Given the description of an element on the screen output the (x, y) to click on. 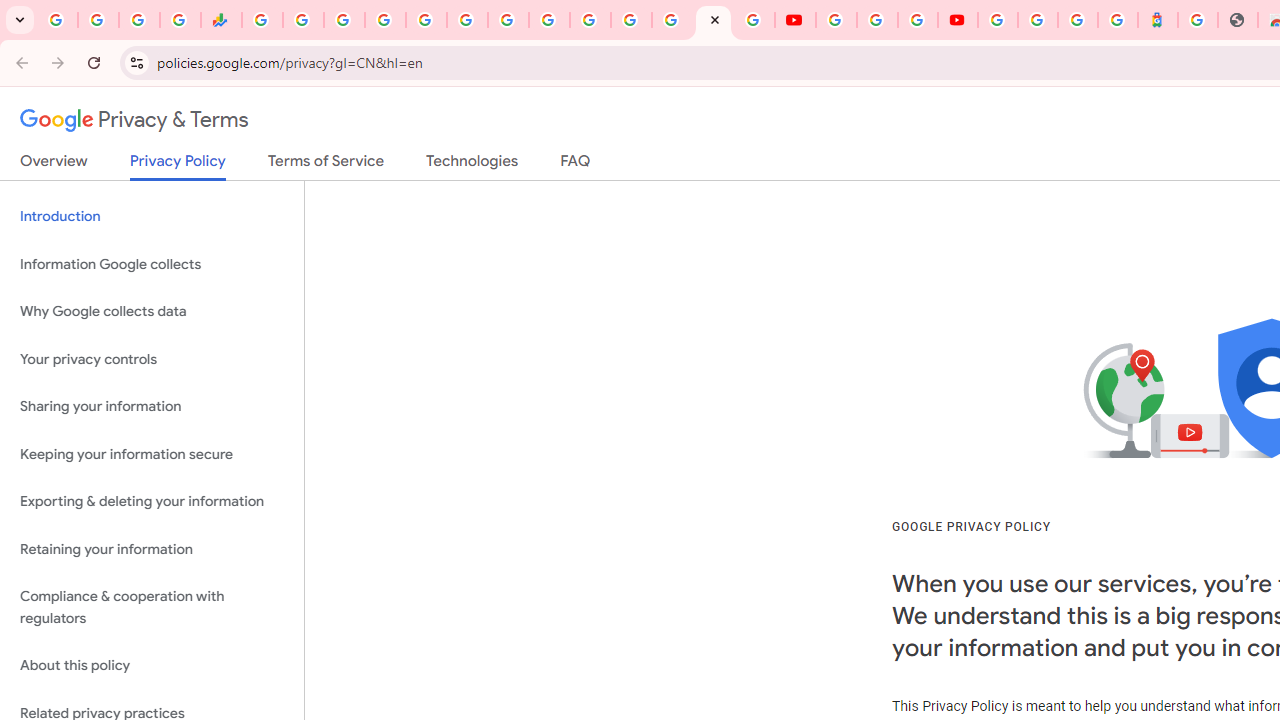
Compliance & cooperation with regulators (152, 607)
Create your Google Account (918, 20)
Google Workspace Admin Community (57, 20)
YouTube (548, 20)
Keeping your information secure (152, 453)
Google Account Help (877, 20)
